Given the description of an element on the screen output the (x, y) to click on. 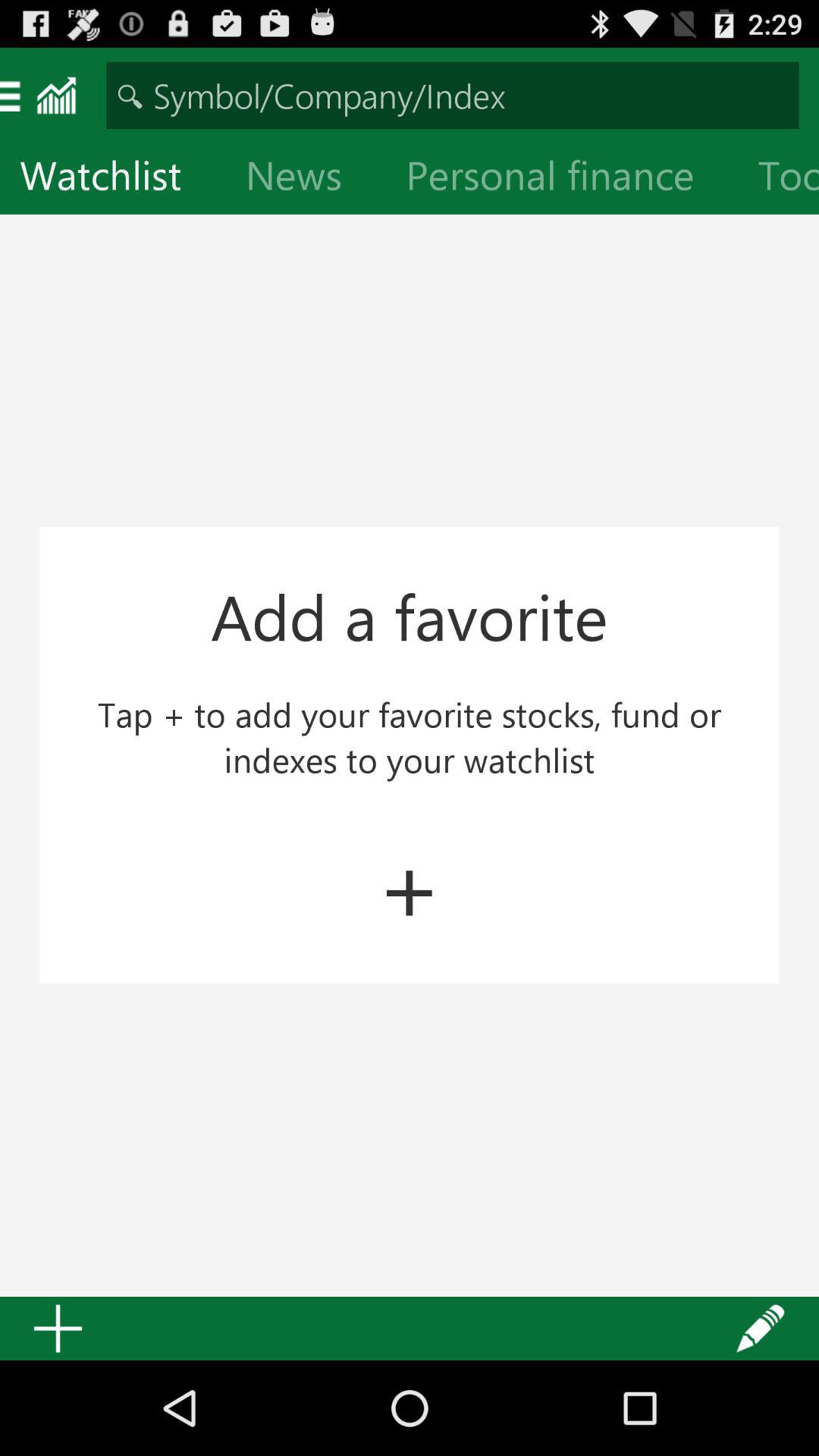
launch item next to watchlist icon (305, 178)
